Given the description of an element on the screen output the (x, y) to click on. 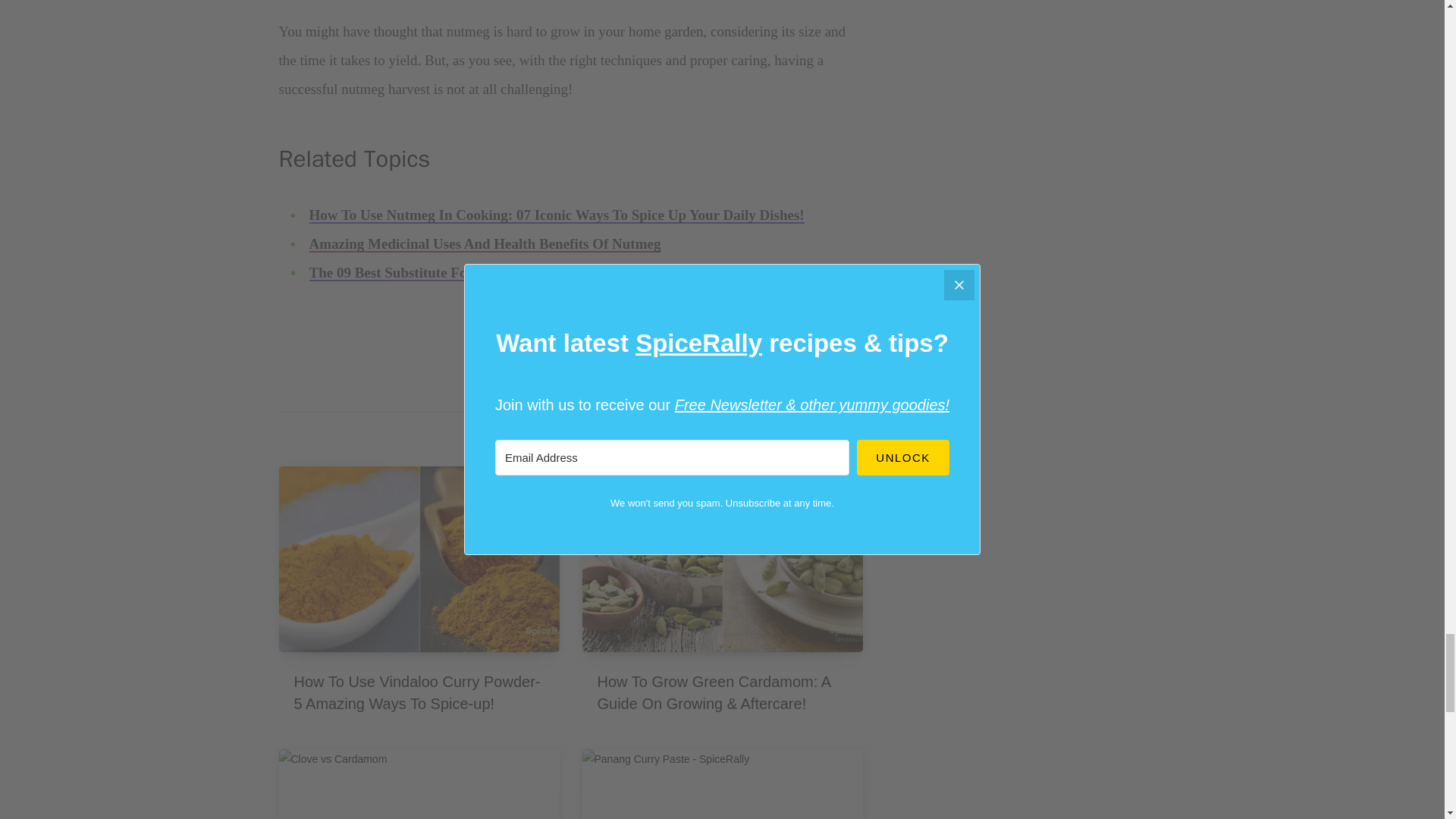
Amazing Medicinal Uses And Health Benefits Of Nutmeg (484, 243)
